Given the description of an element on the screen output the (x, y) to click on. 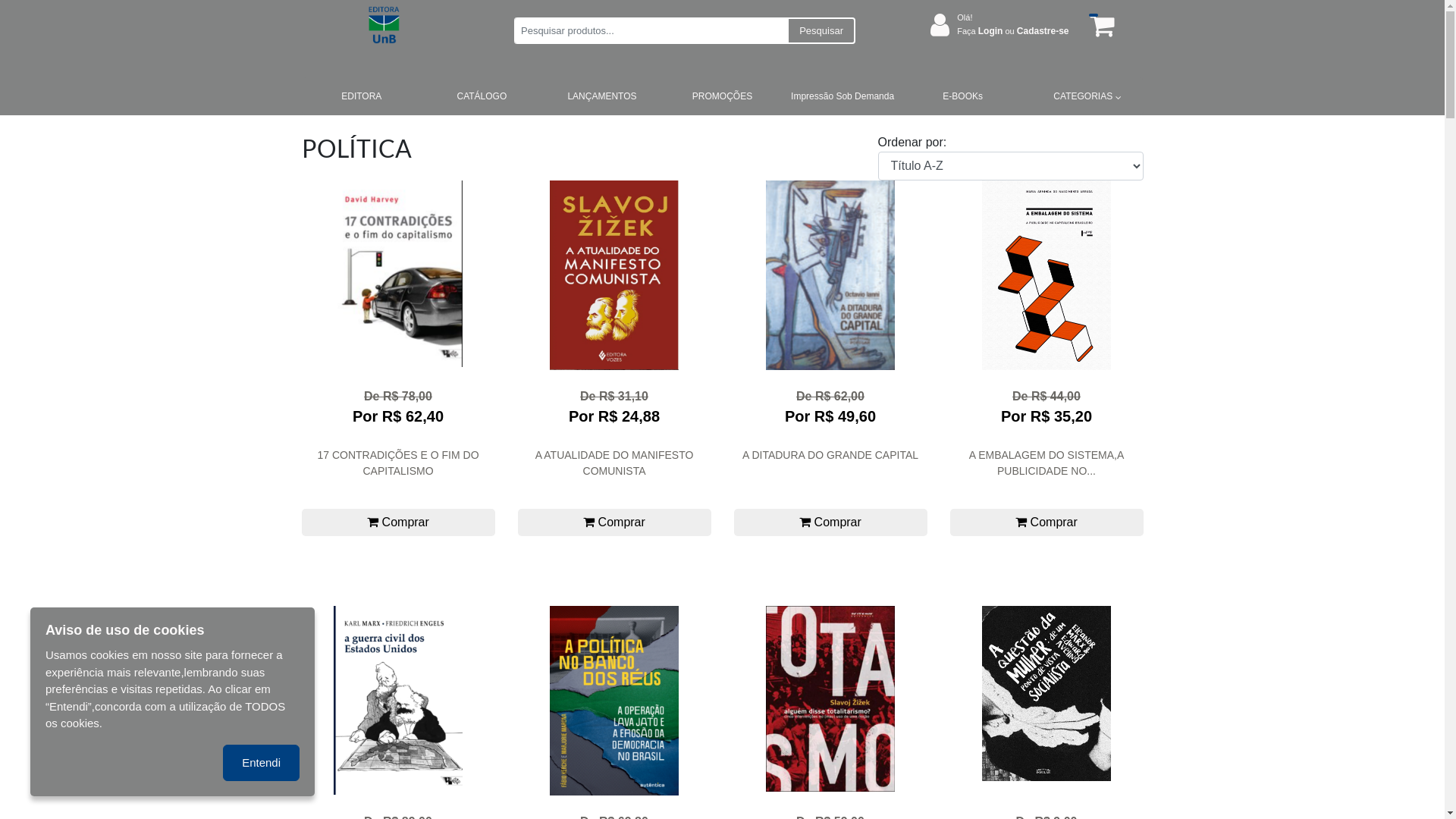
CATEGORIAS Element type: text (1082, 95)
Ver seu Carrinho Element type: hover (1099, 25)
A ATUALIDADE DO MANIFESTO COMUNISTA Element type: text (613, 471)
Comprar Element type: text (830, 522)
E-BOOKs Element type: text (962, 95)
Comprar Element type: text (1045, 522)
Comprar Element type: text (613, 522)
Entendi Element type: text (260, 762)
A EMBALAGEM DO SISTEMA,A PUBLICIDADE NO... Element type: text (1045, 471)
A DITADURA DO GRANDE CAPITAL Element type: text (830, 471)
Comprar Element type: text (398, 522)
EDITORA Element type: text (361, 95)
